Given the description of an element on the screen output the (x, y) to click on. 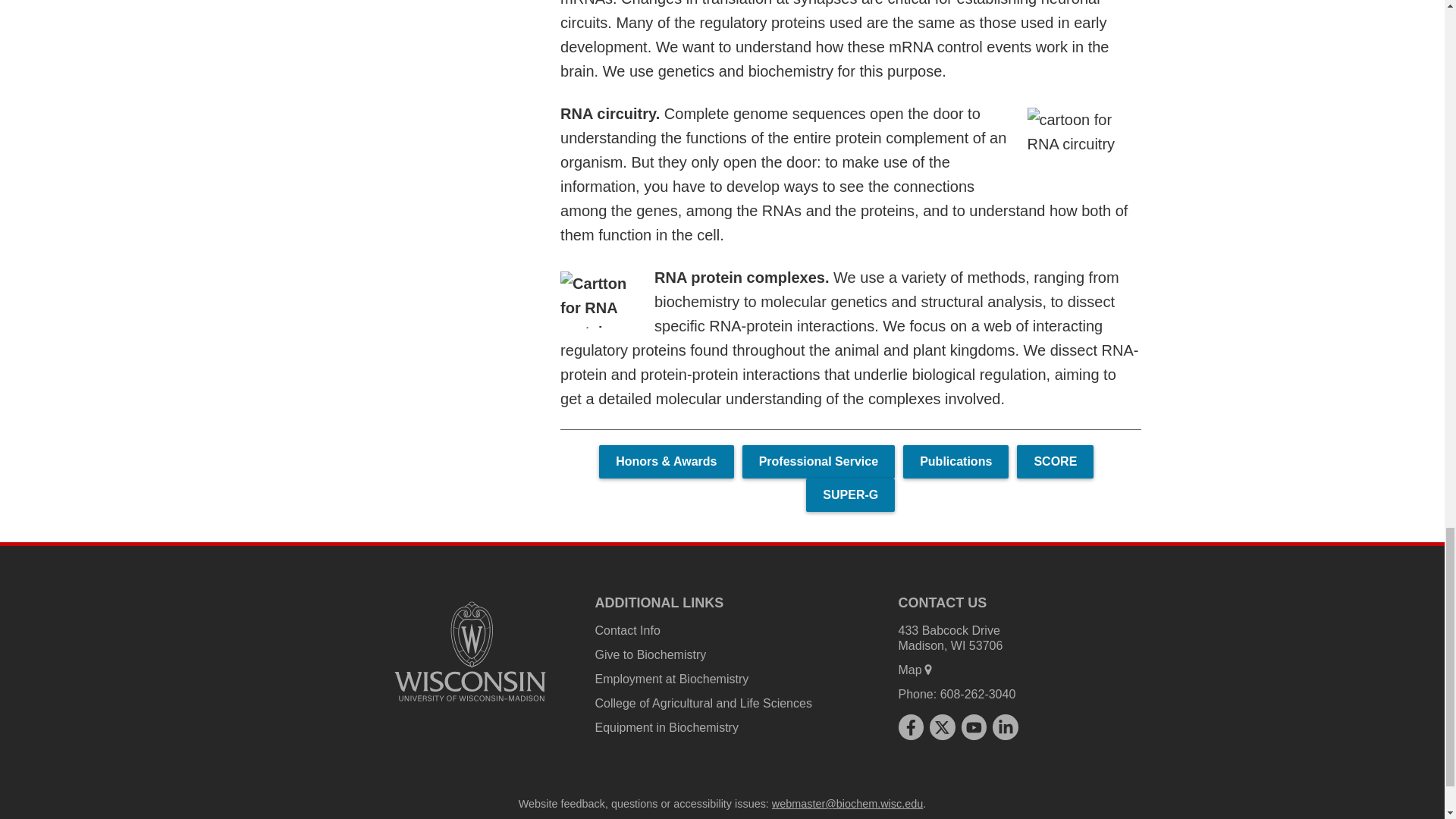
SCORE (1054, 461)
x twitter (941, 727)
Publications (955, 461)
University logo that links to main university website (470, 703)
linkedin (1005, 727)
University logo that links to main university website (470, 651)
youtube (973, 727)
SUPER-G (850, 494)
facebook (910, 727)
map marker (927, 669)
Professional Service (818, 461)
